Given the description of an element on the screen output the (x, y) to click on. 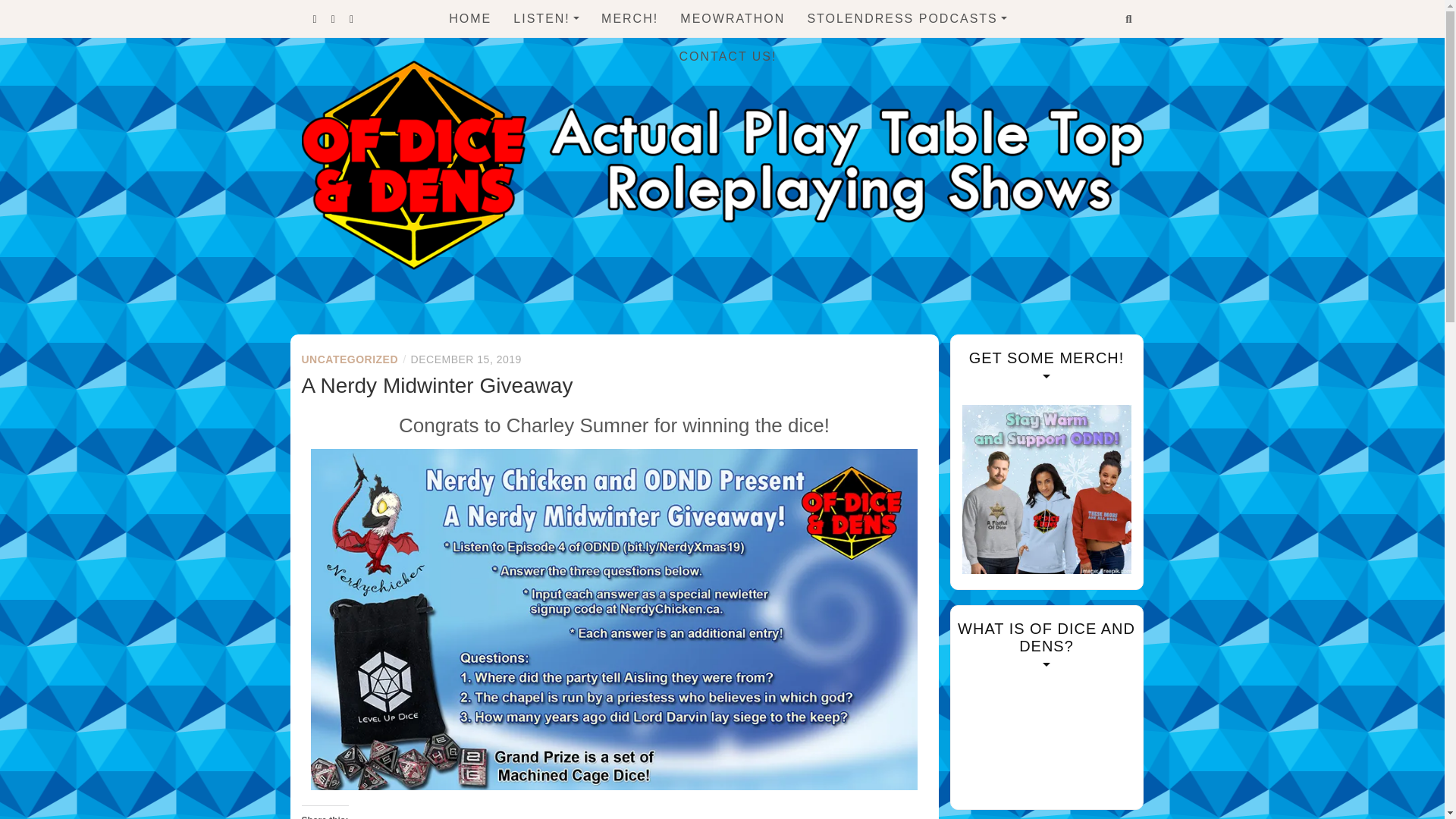
ONE SHOTS! (596, 209)
CONTACT US! (728, 56)
STOLENDRESS PODCASTS (906, 18)
COMEDY ON VINYL (906, 52)
THE NOVELIZATION REALIZATION PROJECT (906, 253)
EVERYTHING ODND (596, 52)
A FISTFUL OF DICE (596, 146)
DISPATCHES FROM FORT AWESOME (906, 130)
ODND PRESENTS (596, 115)
LISTEN! (546, 18)
OF DICE AND DENS (552, 320)
UNCATEGORIZED (349, 358)
MEOWRATHON (731, 18)
THE C-TEAM (596, 83)
THE DJCH PODCAST (906, 83)
